Given the description of an element on the screen output the (x, y) to click on. 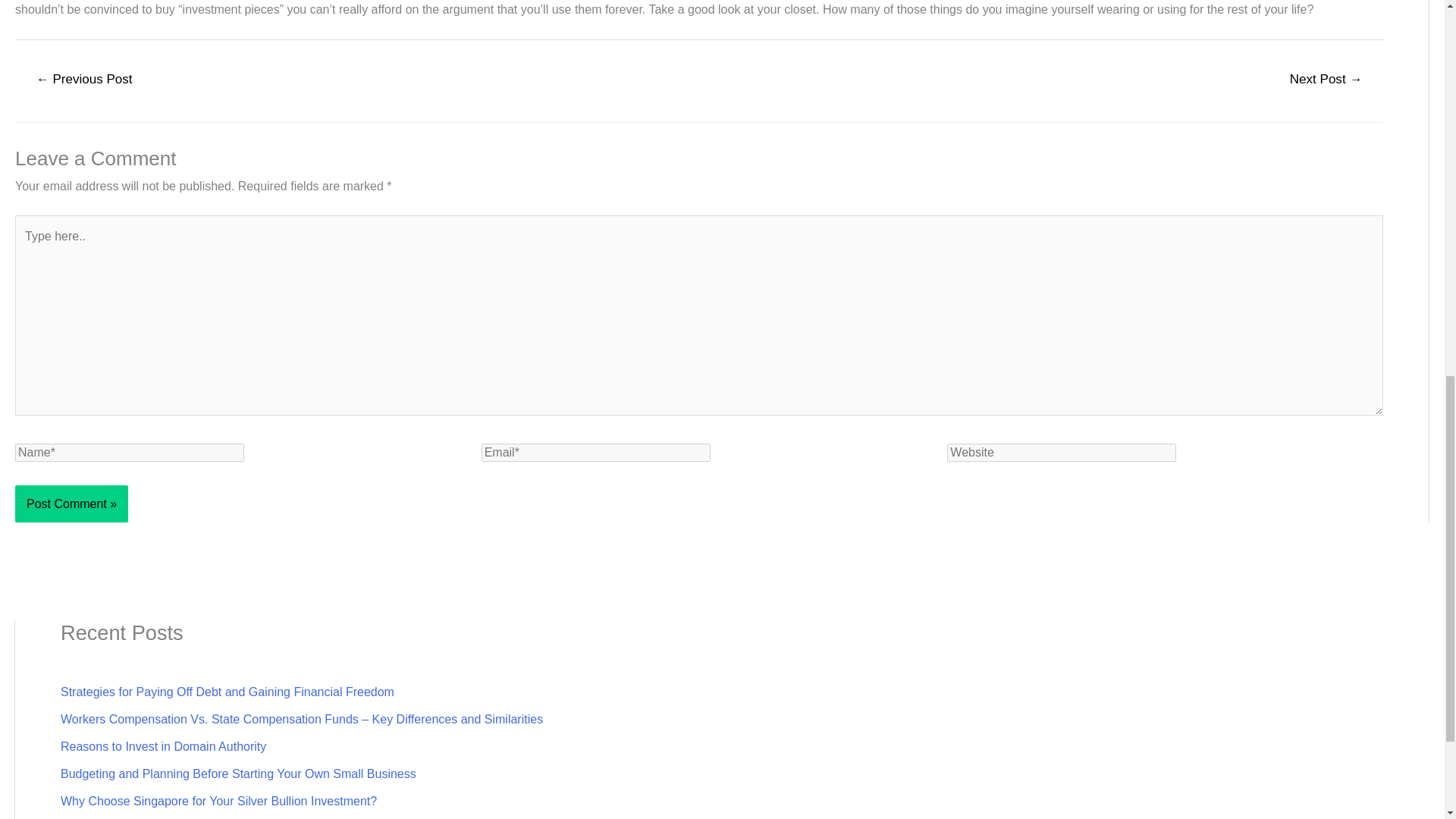
Reasons to Invest in Domain Authority (163, 746)
Strategies for Paying Off Debt and Gaining Financial Freedom (227, 691)
Why Choose Singapore for Your Silver Bullion Investment? (219, 800)
